Given the description of an element on the screen output the (x, y) to click on. 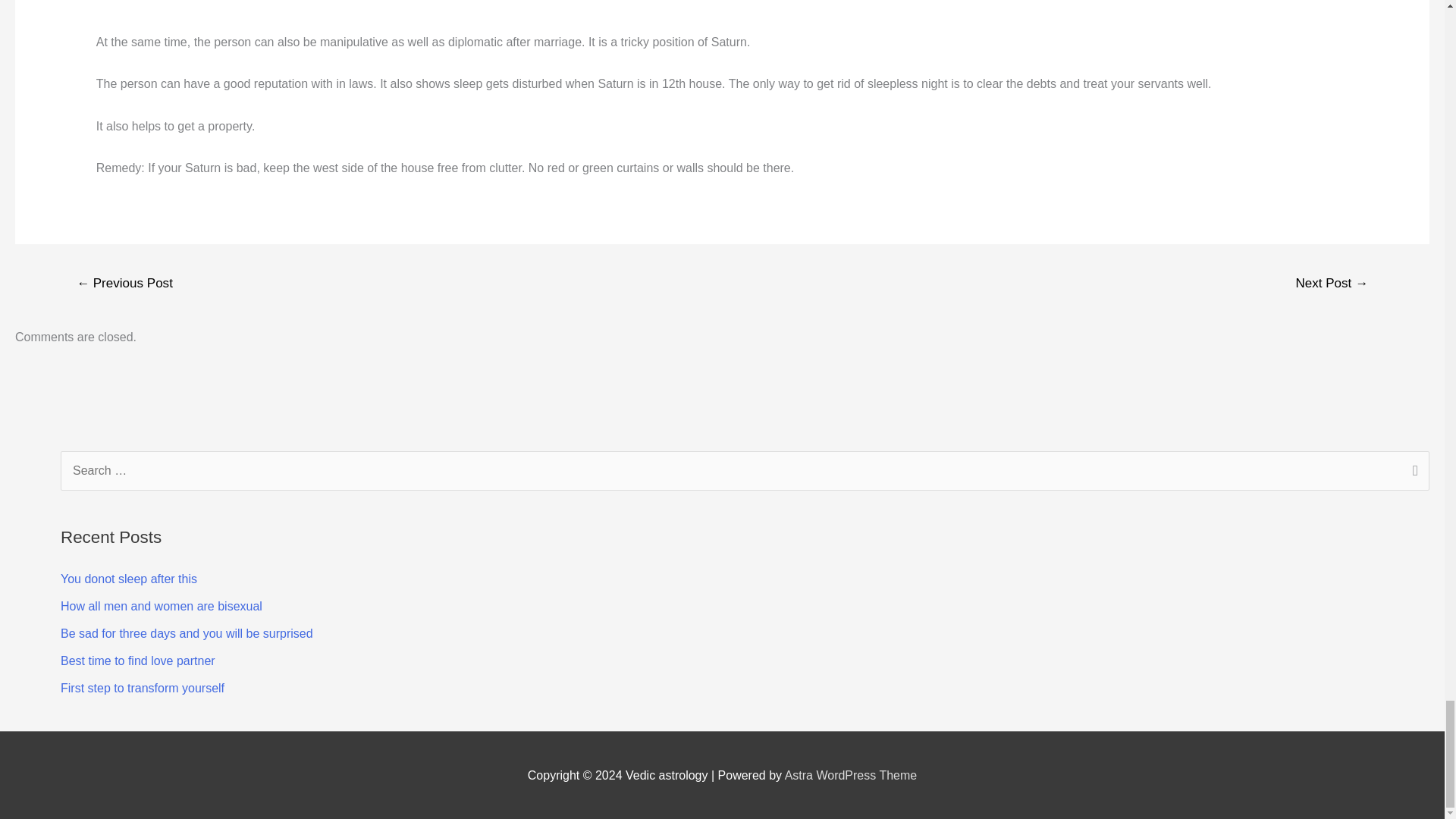
Best time to find love partner (138, 660)
Be sad for three days and you will be surprised (187, 633)
You donot sleep after this (128, 578)
How all men and women are bisexual (161, 605)
